Given the description of an element on the screen output the (x, y) to click on. 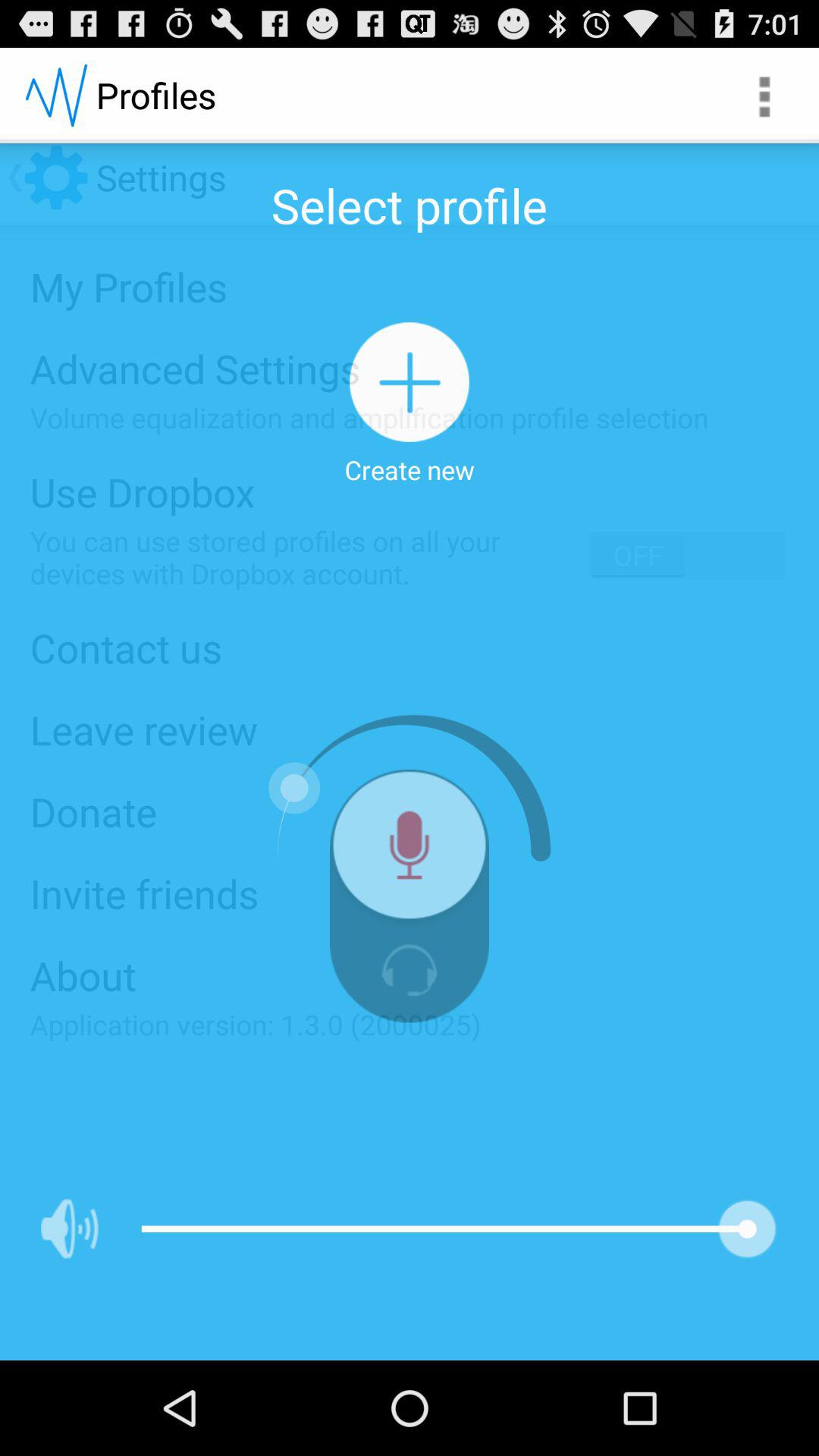
choose the item below create new item (409, 851)
